Given the description of an element on the screen output the (x, y) to click on. 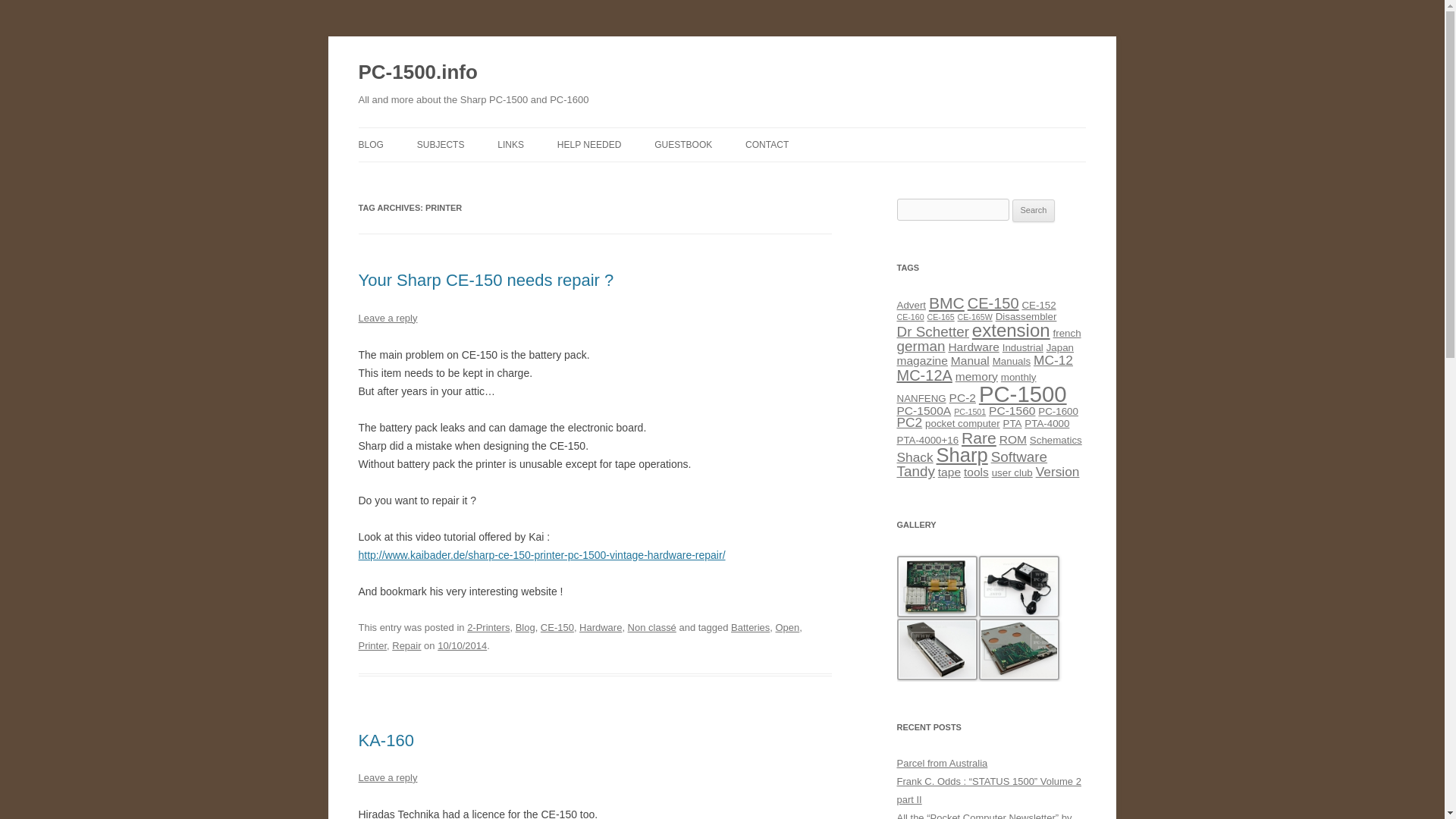
Batteries (750, 627)
PC-1500.info (417, 72)
PC-1500.info (417, 72)
CONTACT (767, 144)
2-Printers (488, 627)
Your Sharp CE-150 needs repair ? (485, 280)
CE-150 repair tutorial (541, 554)
KA-160 (385, 740)
20:02 (462, 645)
